Given the description of an element on the screen output the (x, y) to click on. 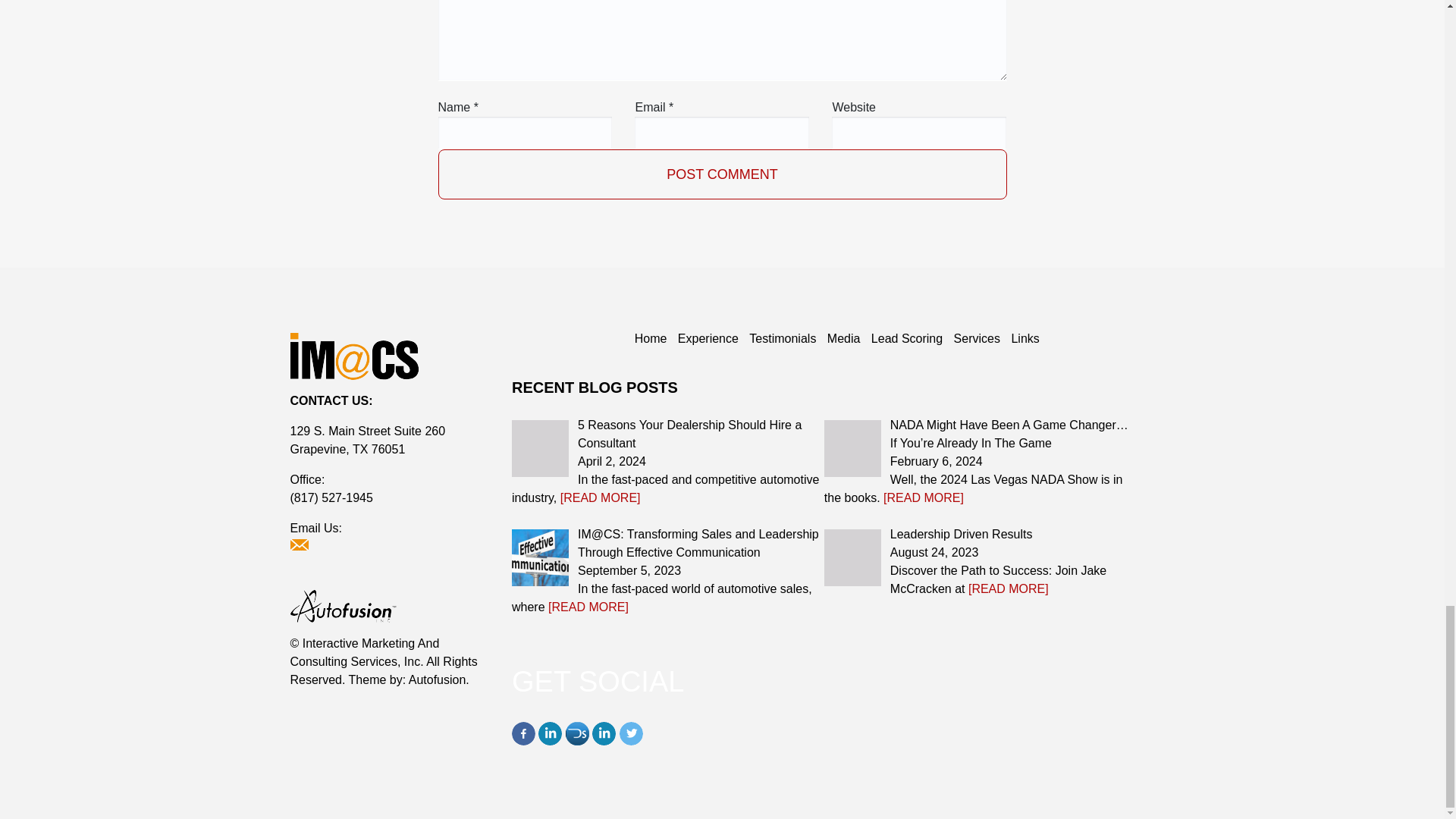
Post Comment (722, 174)
